Given the description of an element on the screen output the (x, y) to click on. 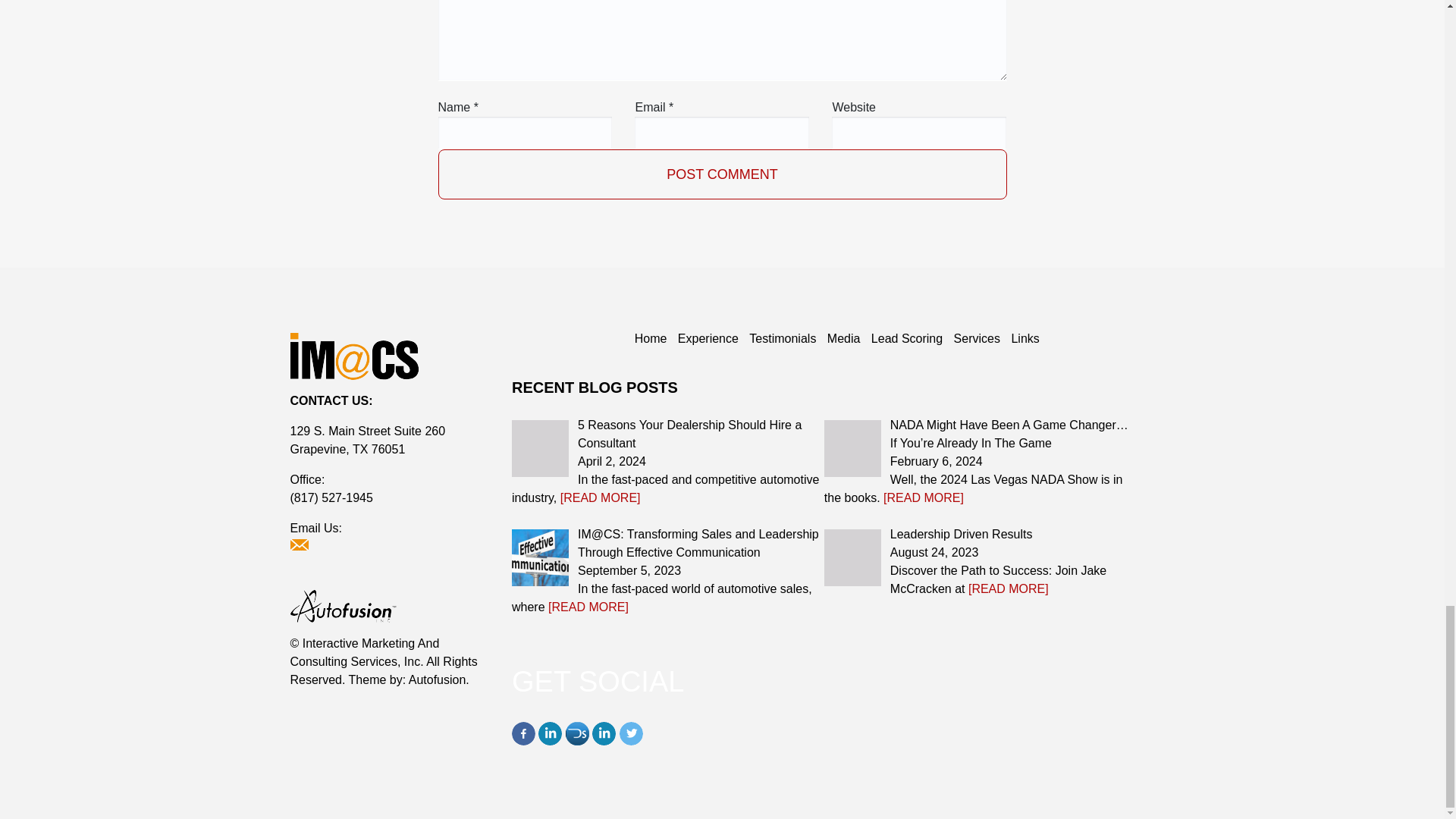
Post Comment (722, 174)
